Given the description of an element on the screen output the (x, y) to click on. 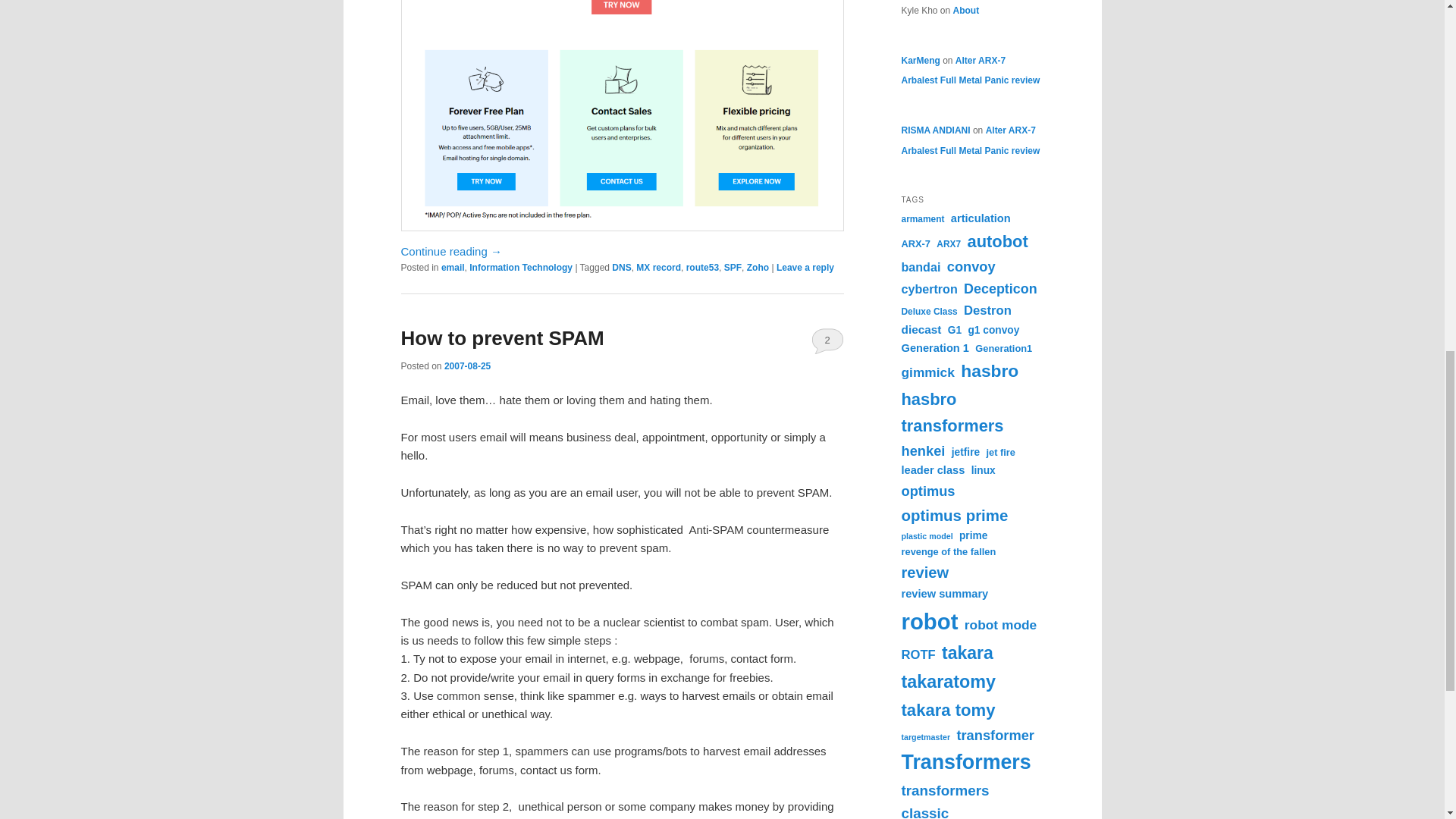
email (452, 267)
DNS (620, 267)
SPF (732, 267)
How to prevent SPAM (502, 337)
MX record (658, 267)
2 (827, 339)
Leave a reply (805, 267)
2007-08-25 (467, 366)
15:50 (467, 366)
Information Technology (520, 267)
Zoho (757, 267)
route53 (702, 267)
